Given the description of an element on the screen output the (x, y) to click on. 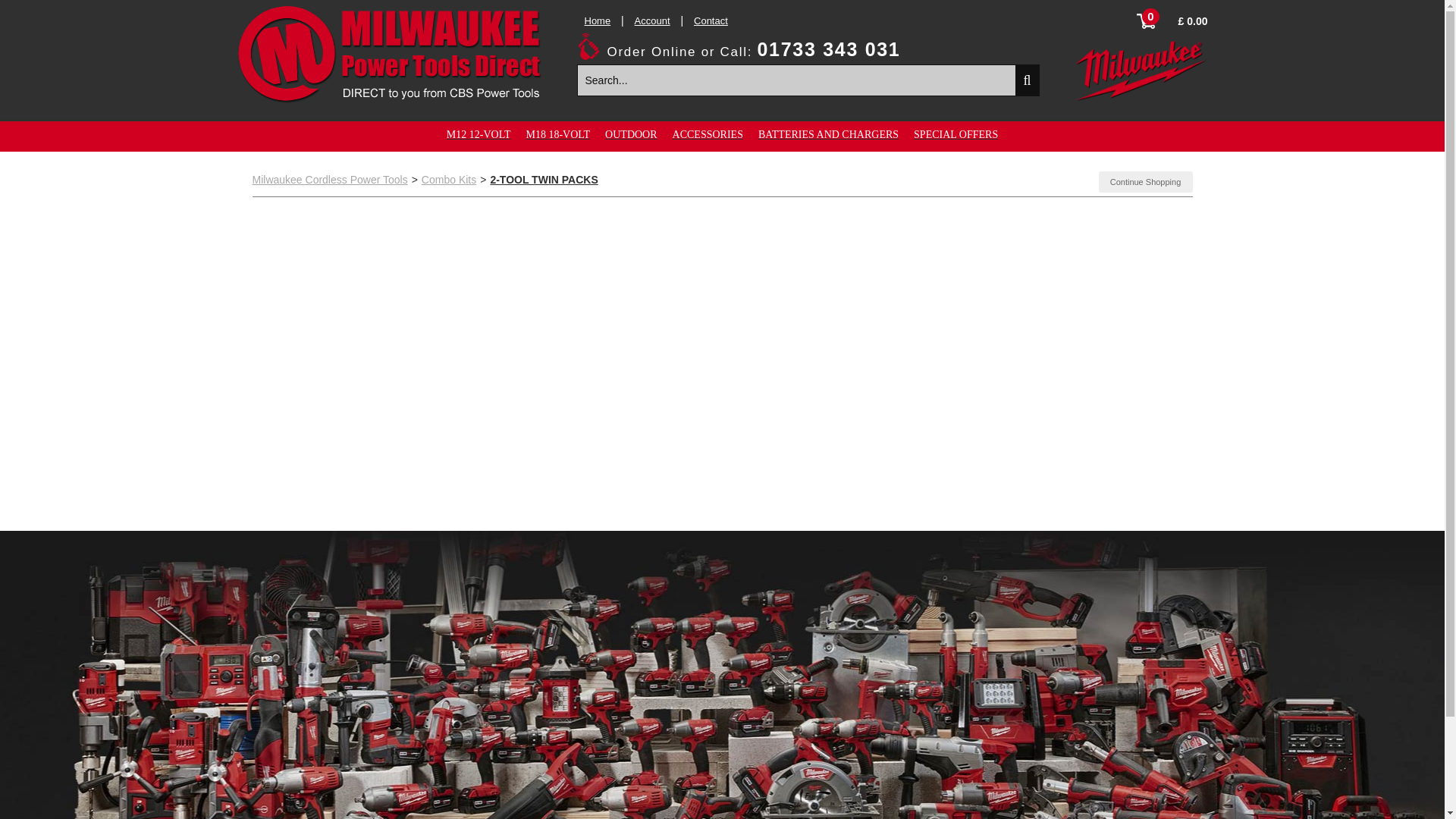
OUTDOOR (630, 134)
Search... (797, 80)
Account (651, 20)
ACCESSORIES (707, 134)
SPECIAL OFFERS (955, 134)
M18 18-VOLT (557, 134)
BATTERIES AND CHARGERS (828, 134)
Home (596, 20)
M12 12-VOLT (478, 134)
Contact (711, 20)
